Given the description of an element on the screen output the (x, y) to click on. 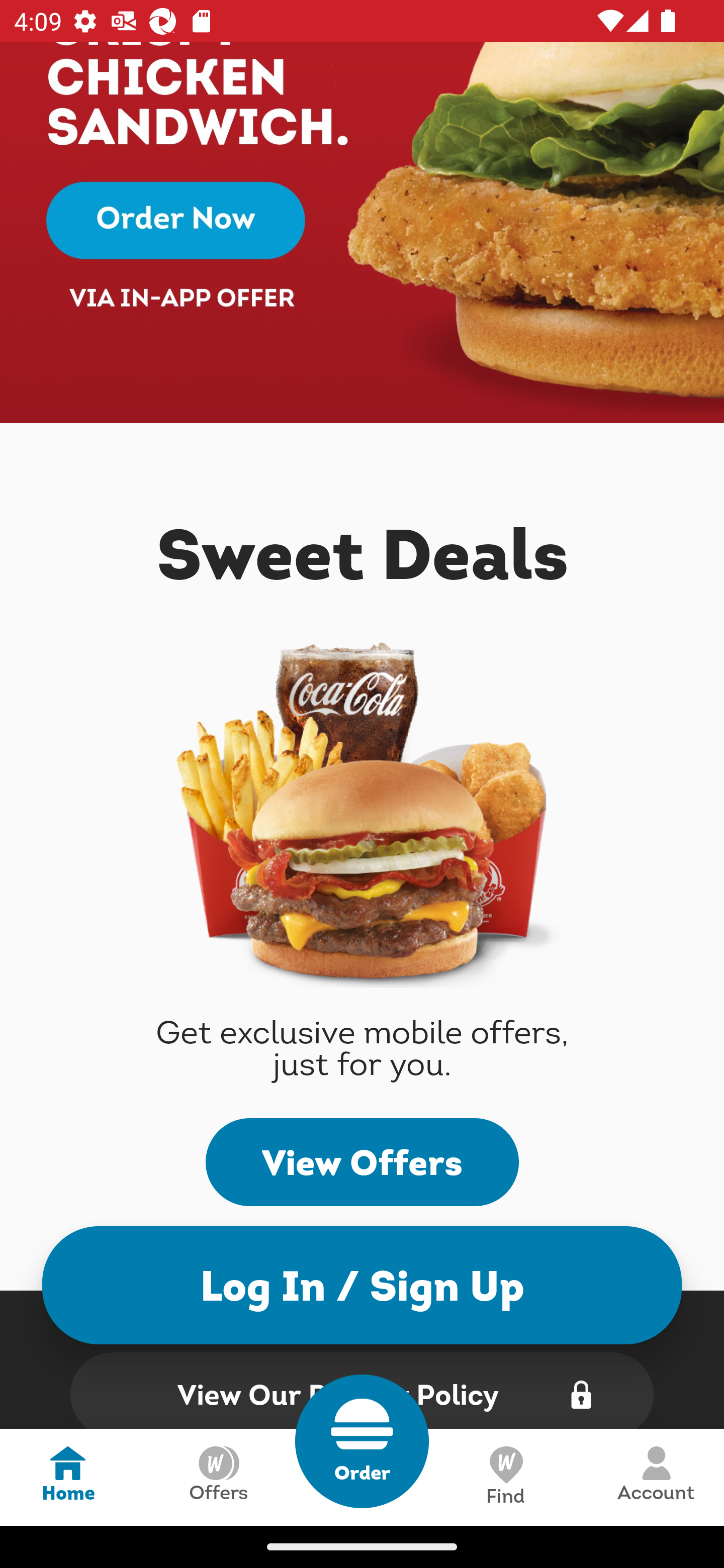
Campaign image (362, 232)
View Offers (362, 1161)
Log In / Sign Up (361, 1284)
Order,3 of 5 Order (361, 1441)
Home,1 of 5 Home (68, 1476)
Rewards,2 of 5 Offers Offers (218, 1476)
Scan,4 of 5 Find Find (505, 1476)
Account,5 of 5 Account (655, 1476)
